Given the description of an element on the screen output the (x, y) to click on. 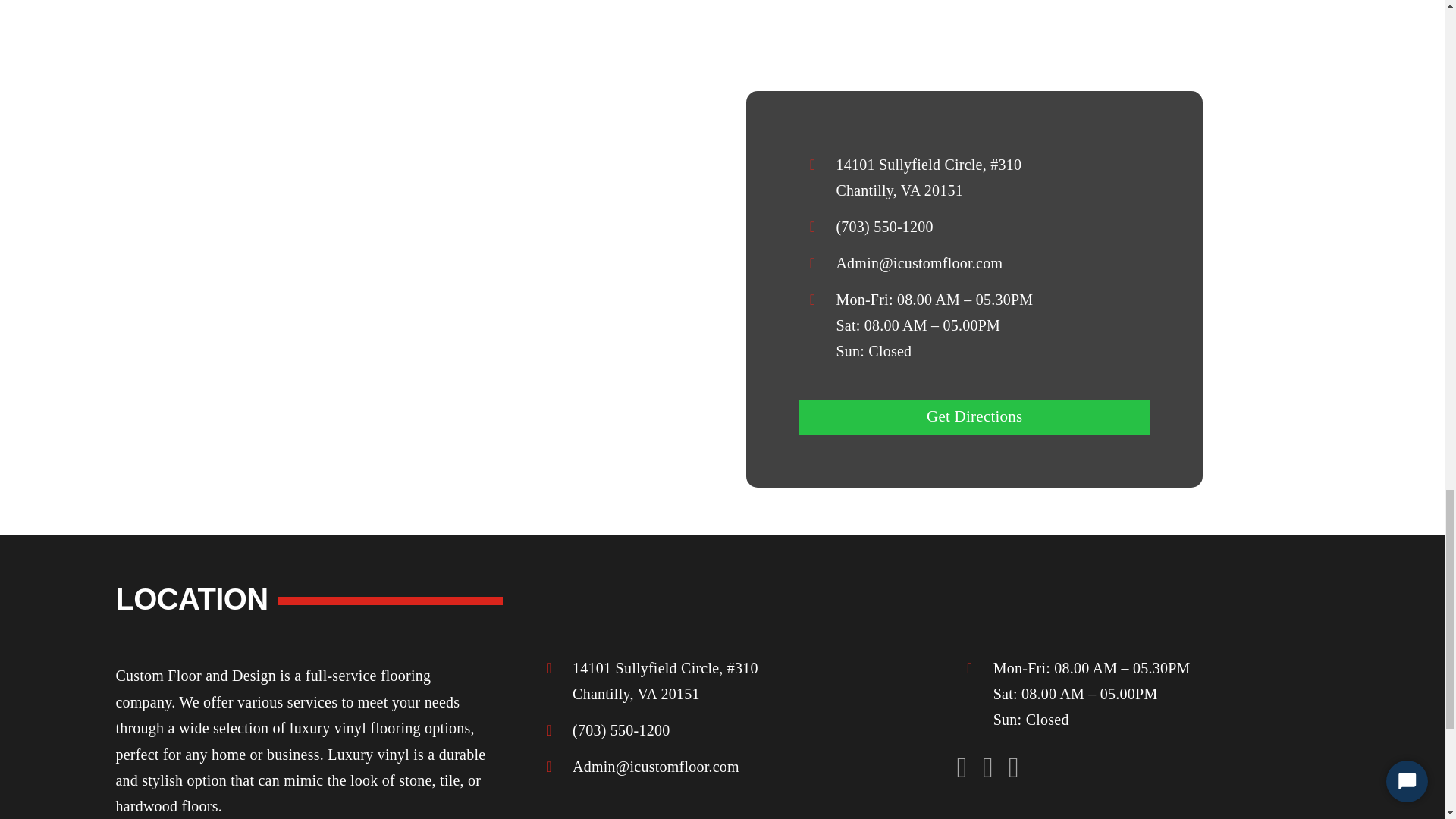
Get Directions (974, 416)
